Given the description of an element on the screen output the (x, y) to click on. 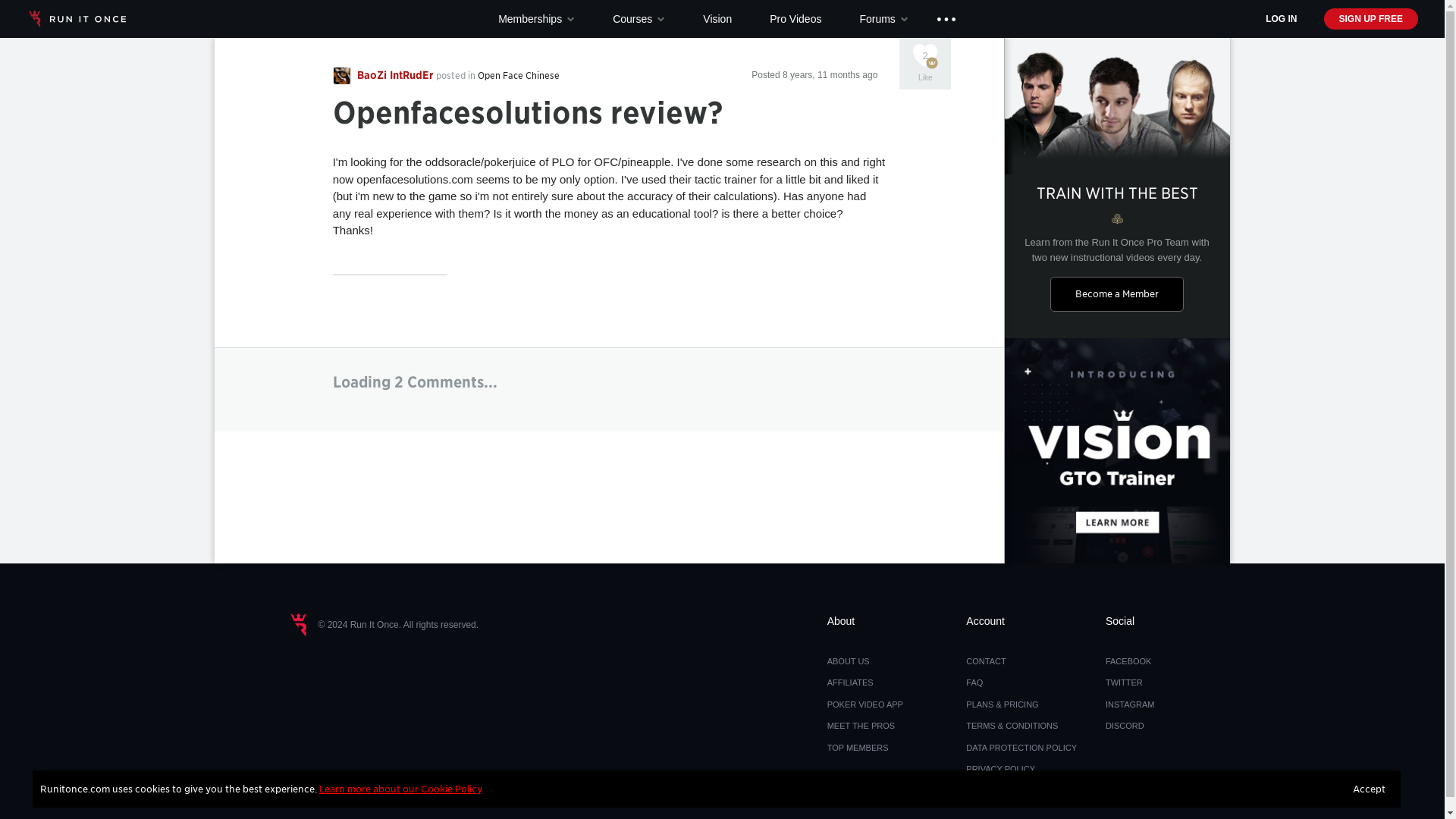
Accept (1369, 788)
Create an account (1370, 18)
View user's profile (384, 75)
Log In (1281, 18)
